Given the description of an element on the screen output the (x, y) to click on. 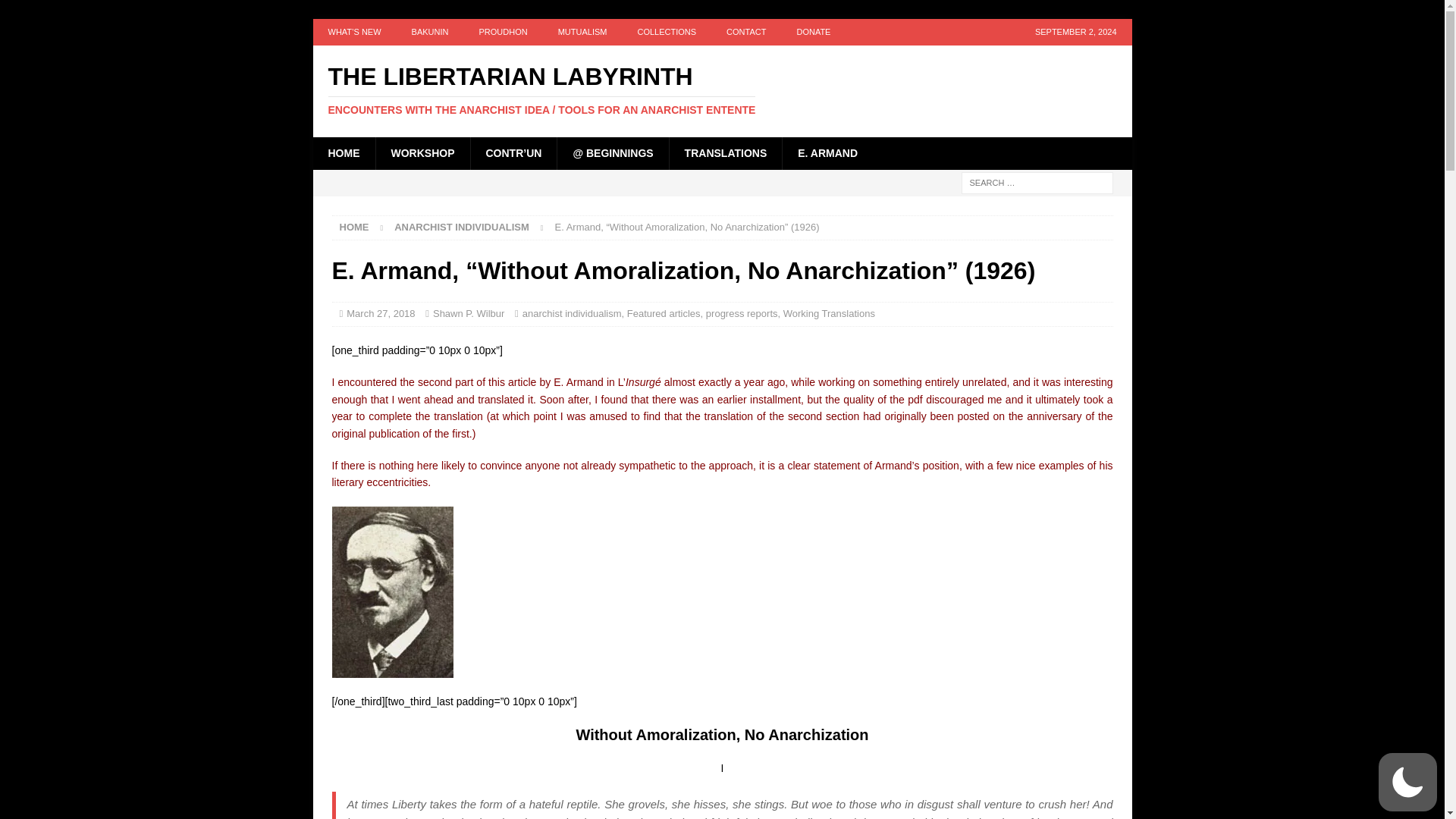
CONTACT (745, 31)
Shawn P. Wilbur (467, 313)
progress reports (741, 313)
E. ARMAND (826, 152)
Home (354, 226)
WORKSHOP (421, 152)
anarchist individualism (571, 313)
ANARCHIST INDIVIDUALISM (461, 226)
COLLECTIONS (666, 31)
PROUDHON (502, 31)
